Given the description of an element on the screen output the (x, y) to click on. 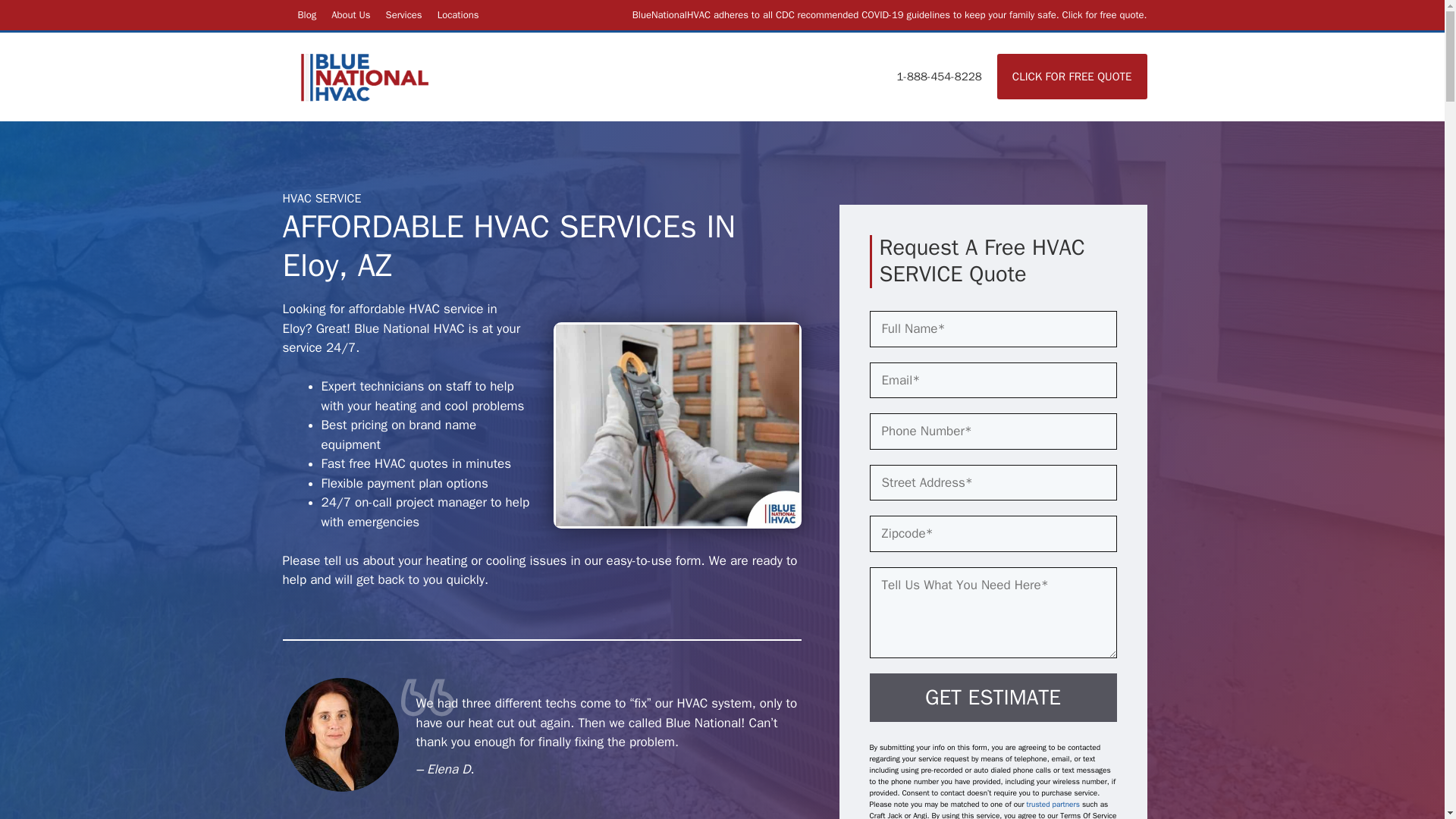
1-888-454-8228 (937, 76)
Blue National HVAC (365, 76)
GET ESTIMATE (992, 697)
Blog (306, 14)
trusted partners (1053, 804)
Blue National HVAC (365, 75)
Click for free quote. (1104, 14)
Locations (458, 14)
CLICK FOR FREE QUOTE (1072, 76)
About Us (350, 14)
Services (403, 14)
